Given the description of an element on the screen output the (x, y) to click on. 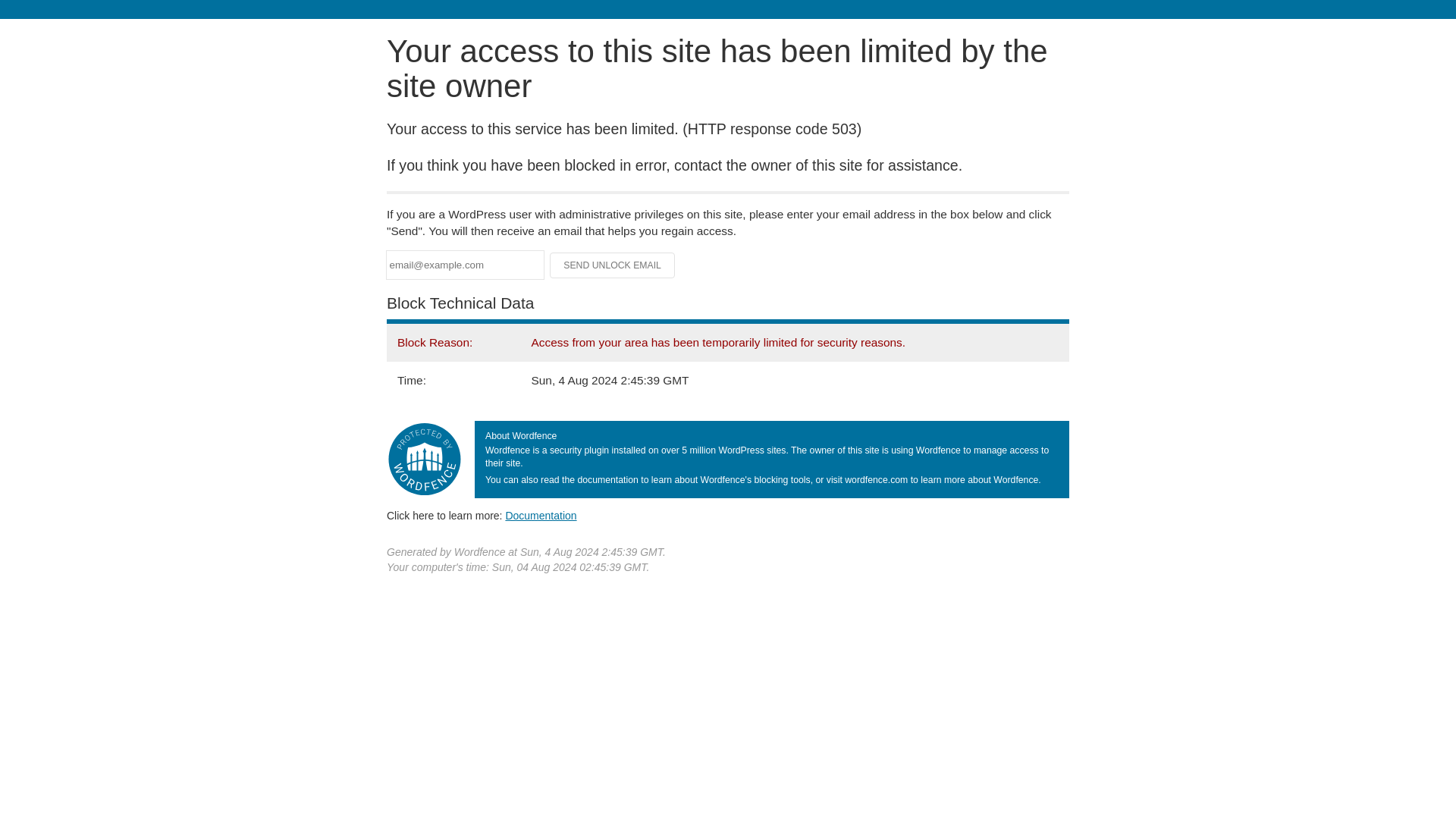
Send Unlock Email (612, 265)
Send Unlock Email (612, 265)
Documentation (540, 515)
